Given the description of an element on the screen output the (x, y) to click on. 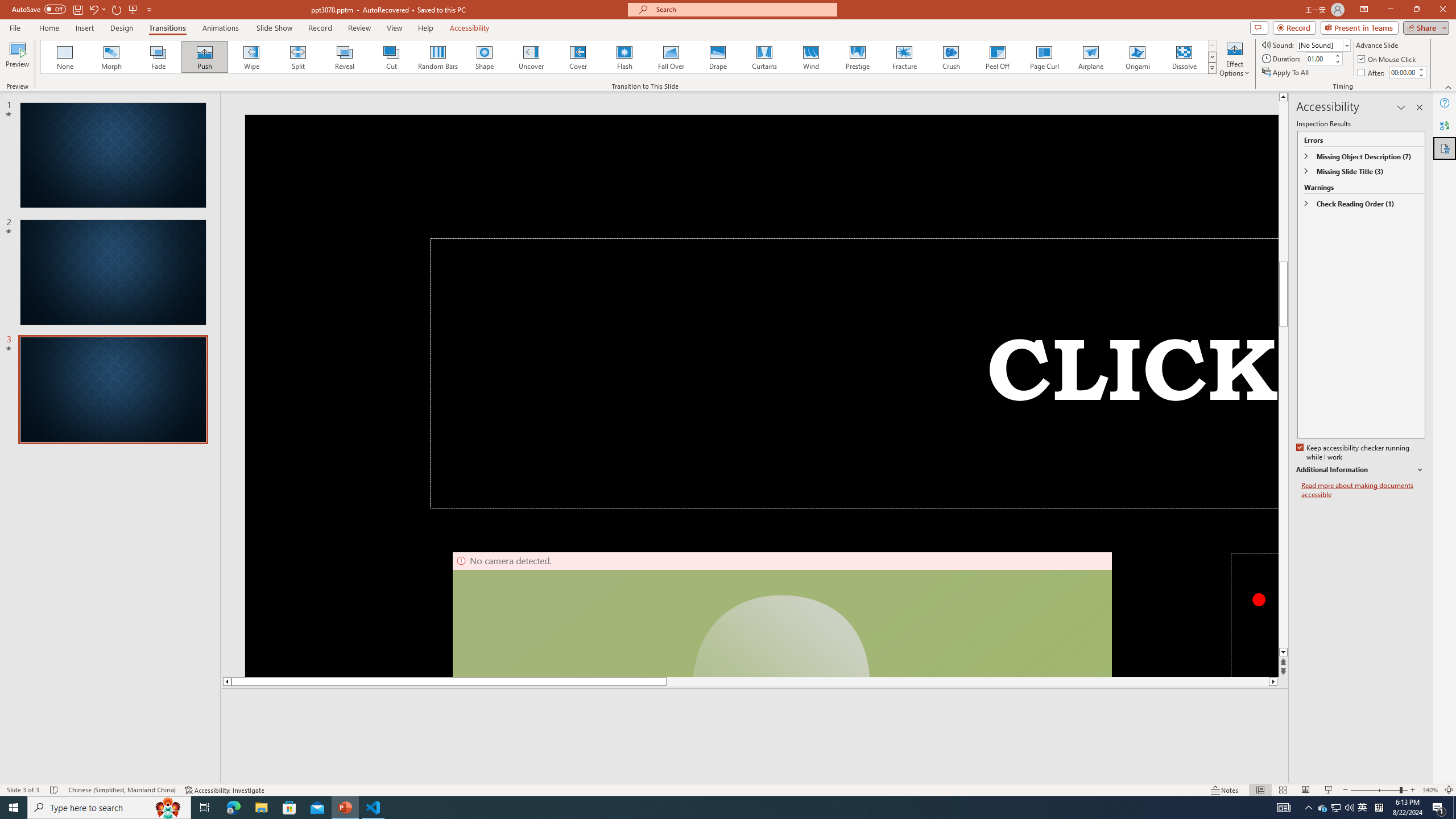
None (65, 56)
Morph (111, 56)
Drape (717, 56)
After (1372, 72)
Flash (624, 56)
Push (205, 56)
Wipe (251, 56)
Apply To All (1286, 72)
